Given the description of an element on the screen output the (x, y) to click on. 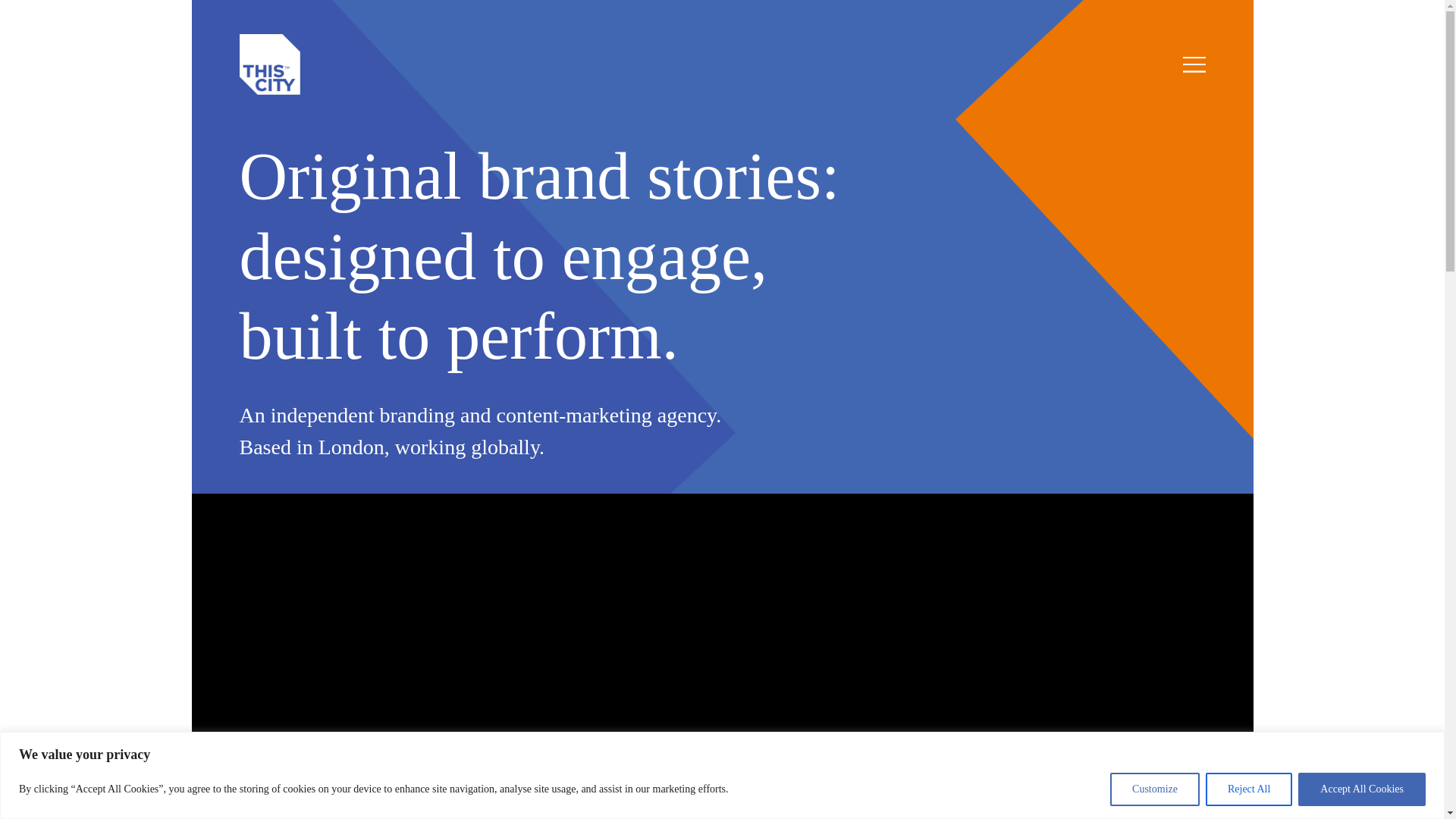
Reject All (1248, 788)
Customize (1154, 788)
Accept All Cookies (1361, 788)
